Given the description of an element on the screen output the (x, y) to click on. 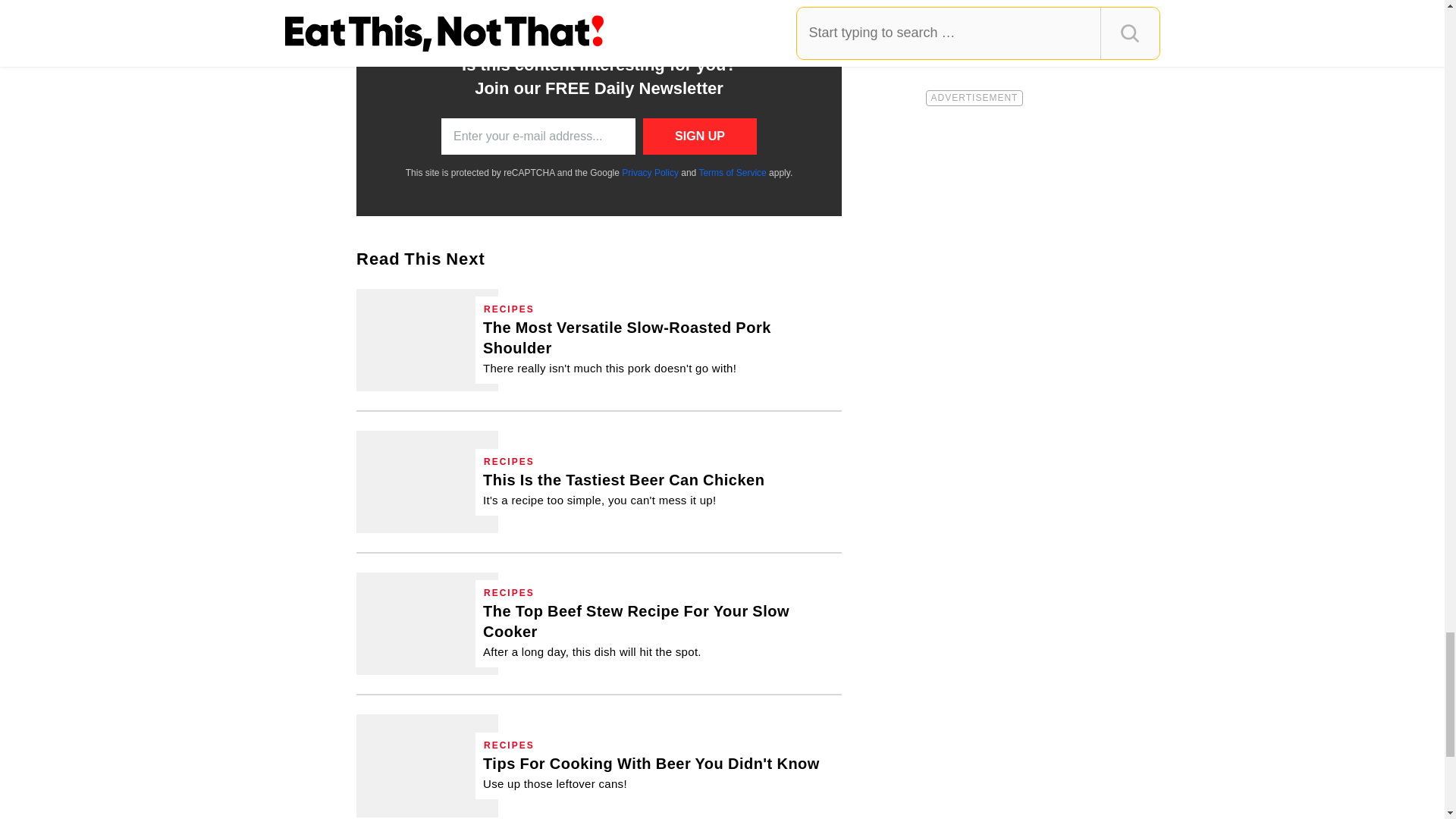
Best-Ever Beef Stew in Red Wine Recipe (658, 630)
A Versatile Slow-Roasted Pork Shoulder Recipe (658, 346)
The Simplest Beer Can Chicken Recipe (623, 488)
A Versatile Slow-Roasted Pork Shoulder Recipe (426, 340)
The Simplest Beer Can Chicken Recipe (426, 481)
Best-Ever Beef Stew in Red Wine Recipe (426, 623)
